Given the description of an element on the screen output the (x, y) to click on. 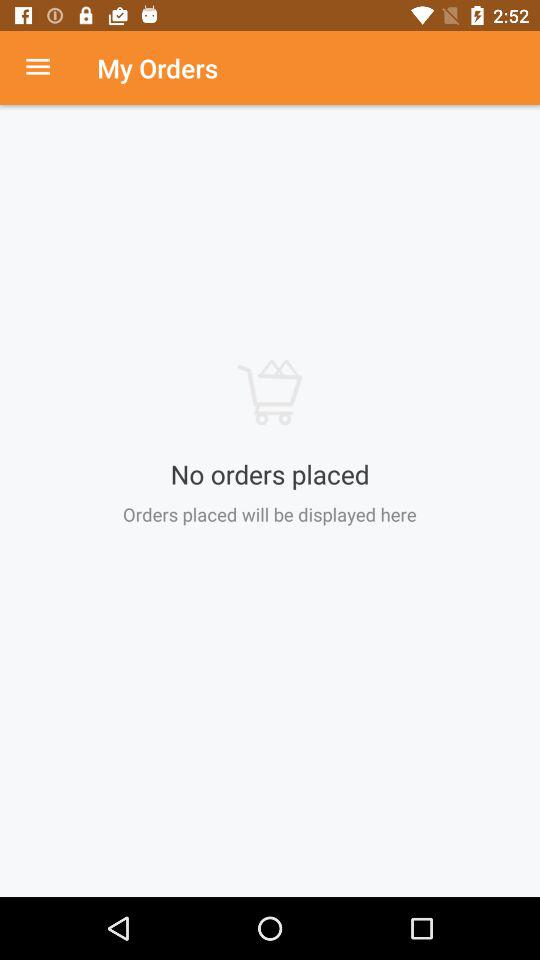
menu toggle (48, 67)
